Given the description of an element on the screen output the (x, y) to click on. 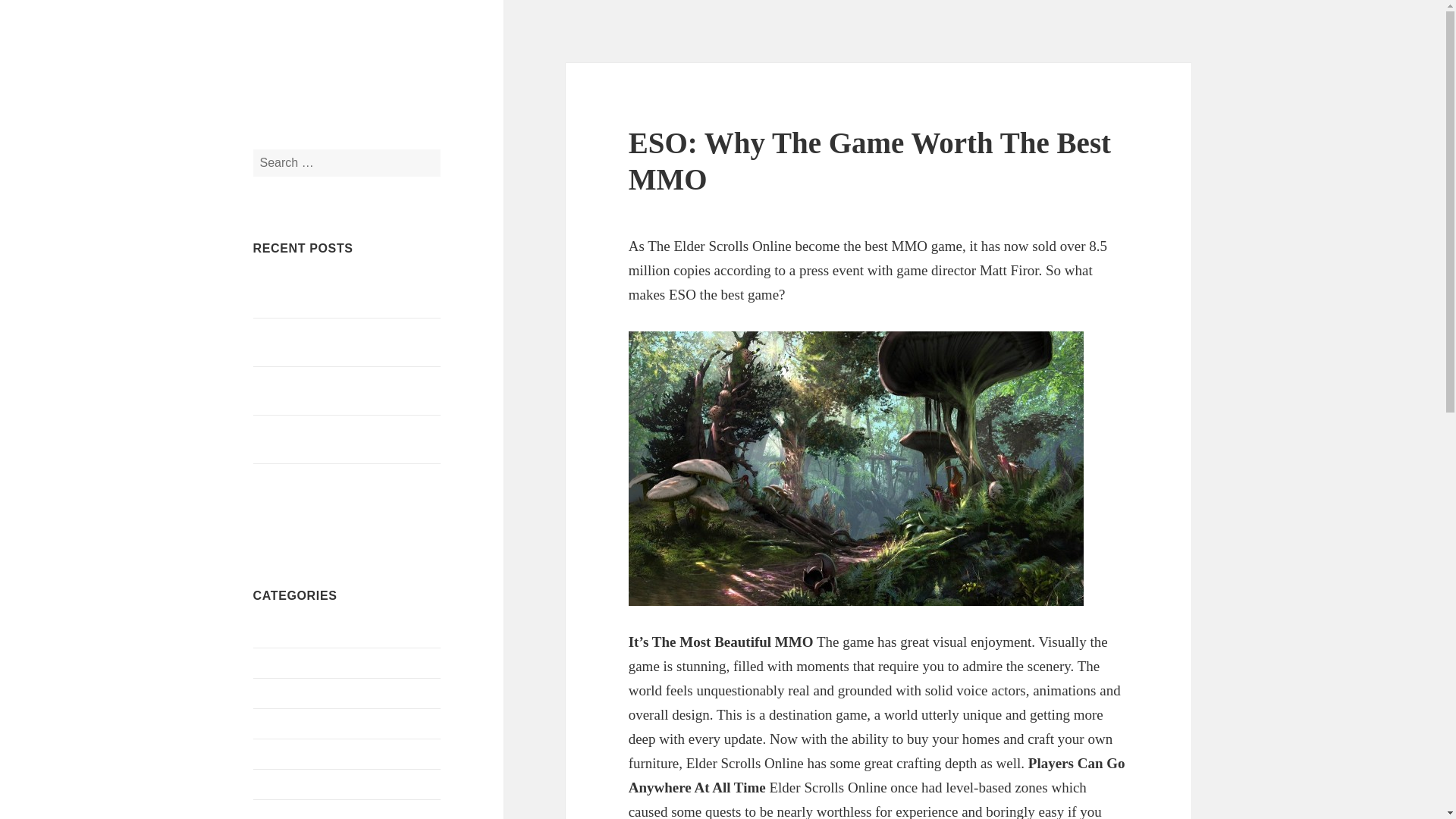
Destiny (272, 753)
Diablo 4 (274, 813)
Destiny 2 (276, 783)
The Rarest Hoods in Fallout 76 Revealed (329, 341)
Sightline Survey Hand Cannon Guide: Destiny 2 (347, 390)
Dynasty Mode CFB25: Building to Championship (339, 293)
COD MW3 (281, 692)
ELDERSCROLLSUPDATE (378, 74)
ArcheAge (277, 662)
Dark and Darker (293, 722)
Albion Online (288, 631)
